Given the description of an element on the screen output the (x, y) to click on. 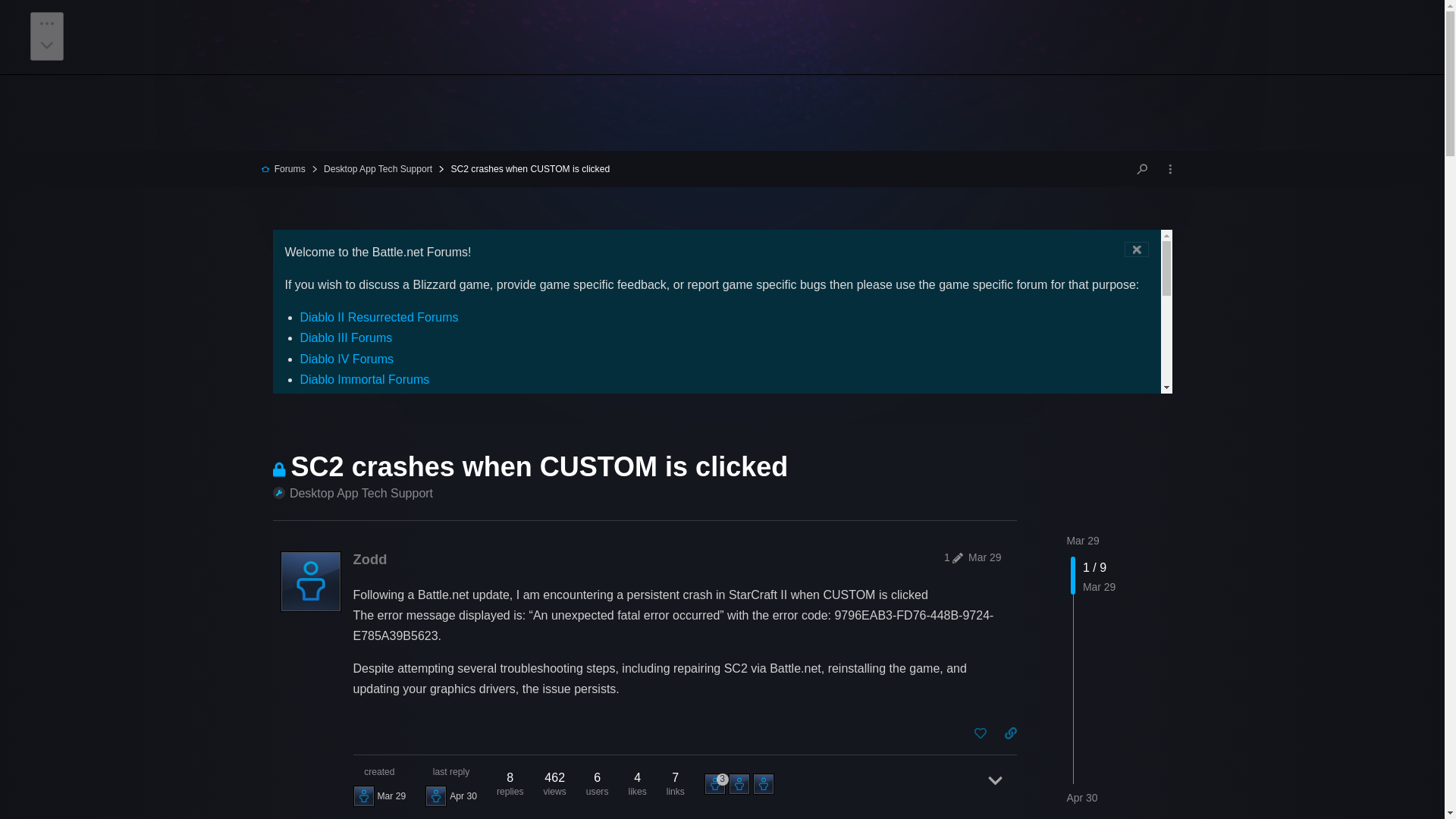
1 (951, 557)
Diablo II Resurrected Forums (378, 317)
Apr 30 (1081, 798)
Mar 29 (1082, 540)
SC2 crashes when CUSTOM is clicked (523, 168)
Boubou-1741 (716, 784)
Apr 30, 2024 9:01 pm (1081, 797)
copy a link to this post to clipboard (1010, 733)
Zodd (370, 559)
Heroes of the Storm Forums (375, 420)
